Given the description of an element on the screen output the (x, y) to click on. 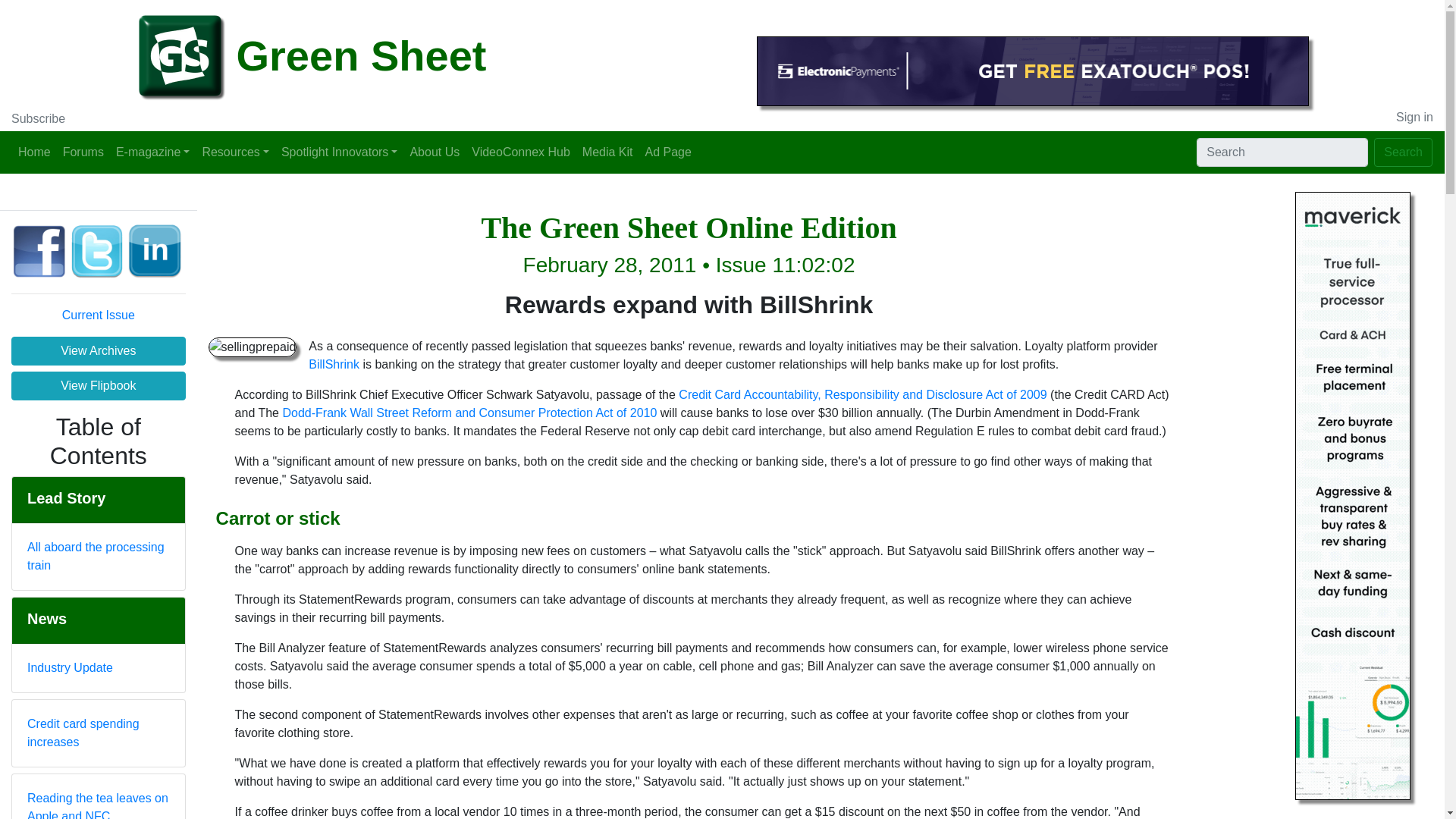
Forums (83, 152)
VideoConnex Hub (520, 152)
BillShrink (333, 364)
Spotlight Innovators (339, 152)
View Archives (98, 350)
Search (1403, 152)
Current Issue (98, 314)
Subscribe (38, 118)
Ad Page (668, 152)
